Given the description of an element on the screen output the (x, y) to click on. 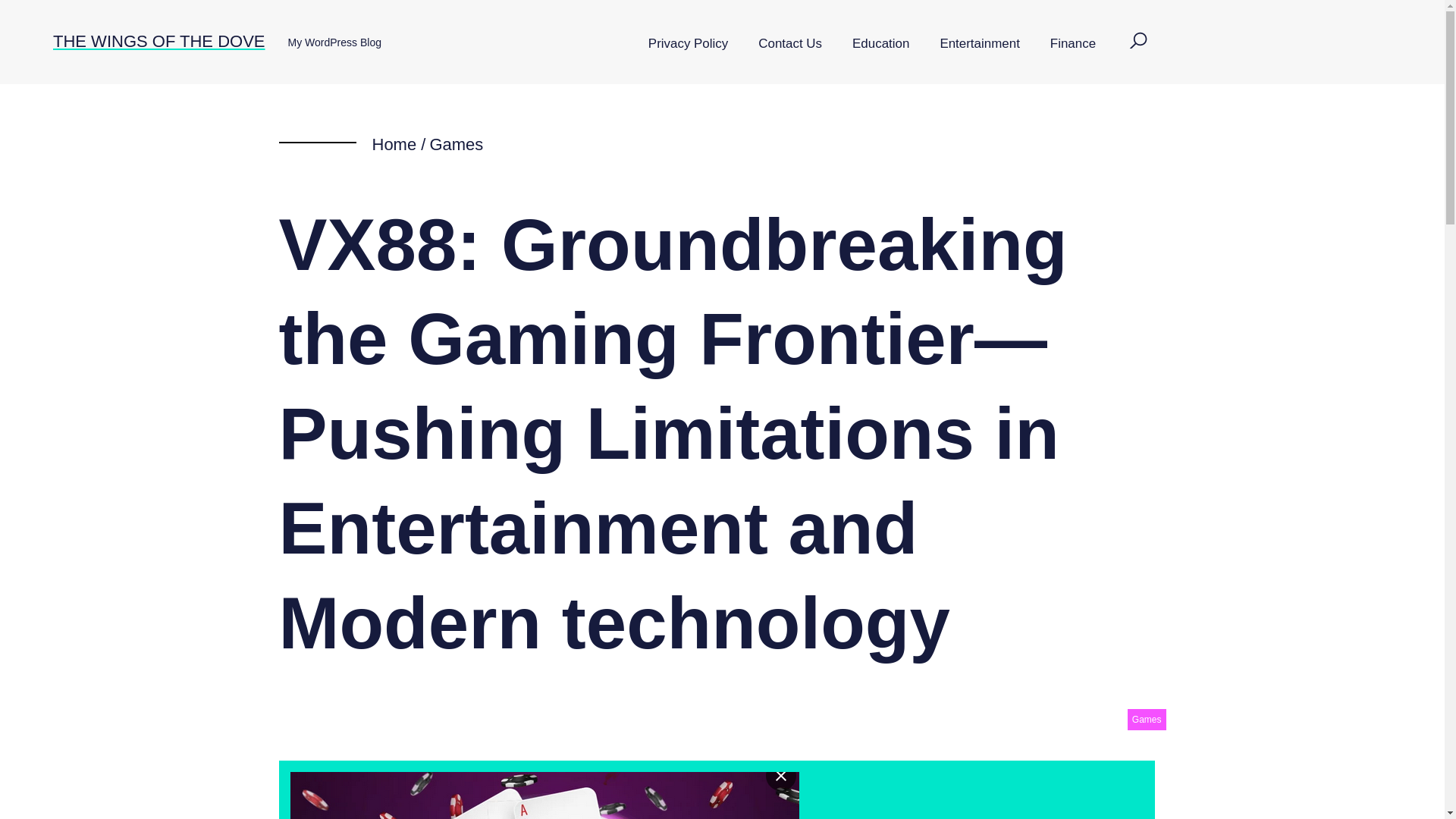
Privacy Policy (687, 43)
THE WINGS OF THE DOVE (158, 40)
Finance (1072, 43)
Games (1146, 719)
Education (880, 43)
Entertainment (978, 43)
Contact Us (789, 43)
Home (393, 144)
Games (456, 144)
